Given the description of an element on the screen output the (x, y) to click on. 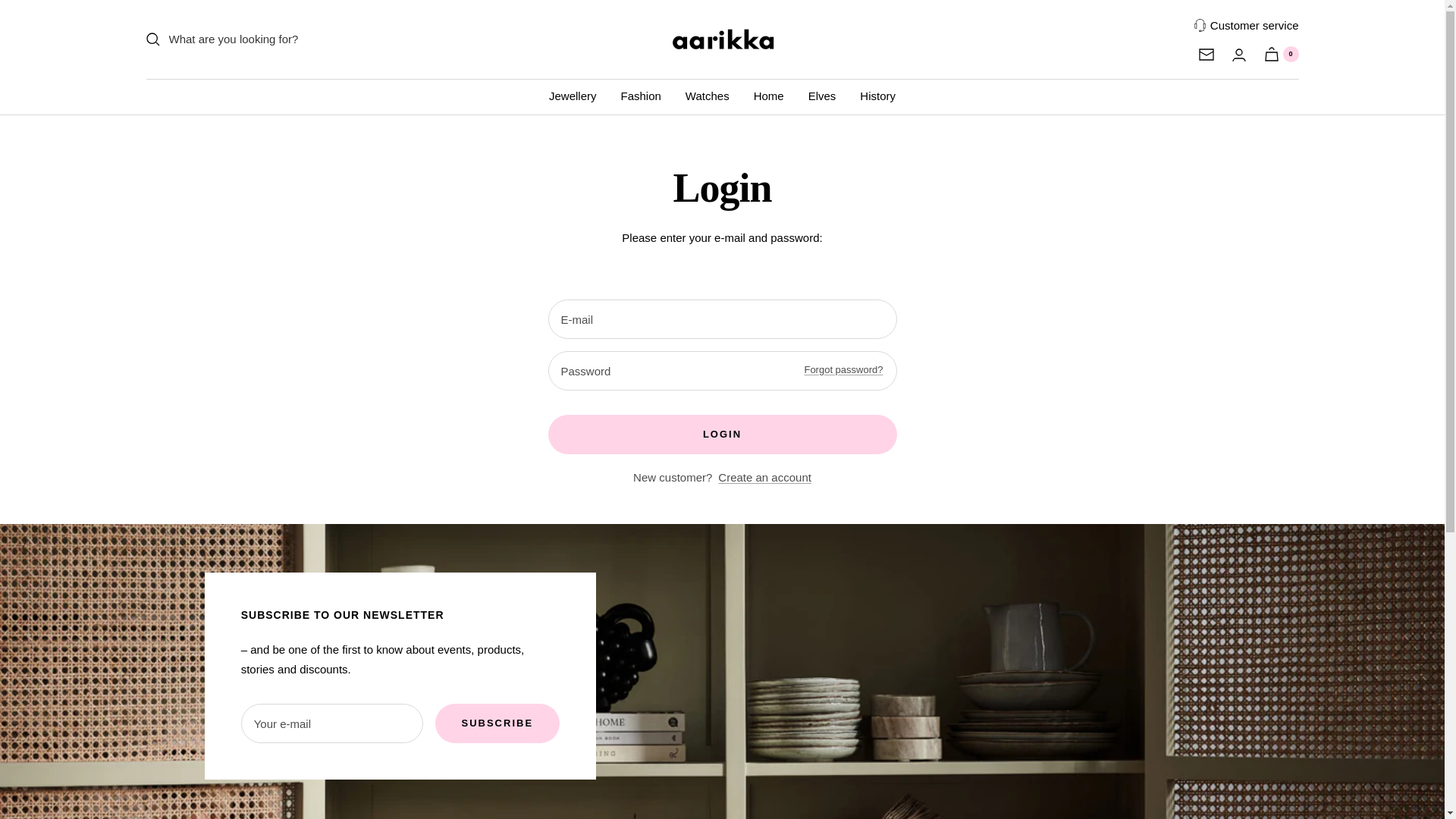
LOGIN (721, 434)
SUBSCRIBE (497, 722)
0 (1280, 54)
Forgot password? (842, 369)
Customer service (1245, 25)
History (877, 96)
Newsletter (1205, 54)
Jewellery (572, 96)
Home (769, 96)
Aarikka Shop B2B (721, 39)
Fashion (640, 96)
Watches (707, 96)
Create an account (760, 477)
Elves (821, 96)
